Given the description of an element on the screen output the (x, y) to click on. 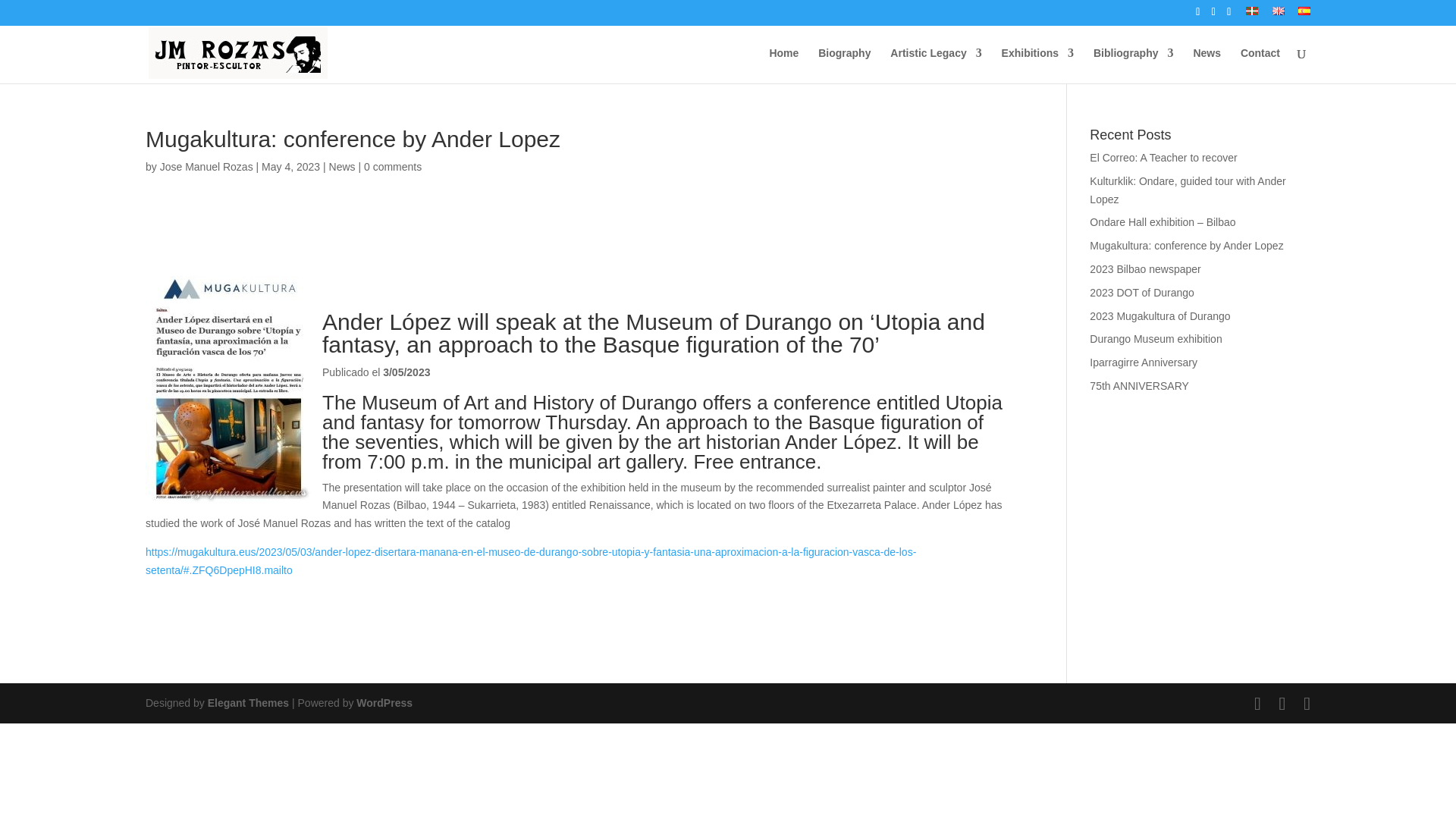
2023 Bilbao newspaper (1144, 268)
Artistic Legacy (935, 65)
Durango Museum exhibition (1155, 338)
Exhibitions (1037, 65)
2023 Mugakultura of Durango (1159, 316)
Mugakultura: conference by Ander Lopez (1185, 245)
Kulturklik: Ondare, guided tour with Ander Lopez (1187, 190)
Biography (844, 65)
Bibliography (1133, 65)
2023 DOT of Durango (1141, 292)
